Given the description of an element on the screen output the (x, y) to click on. 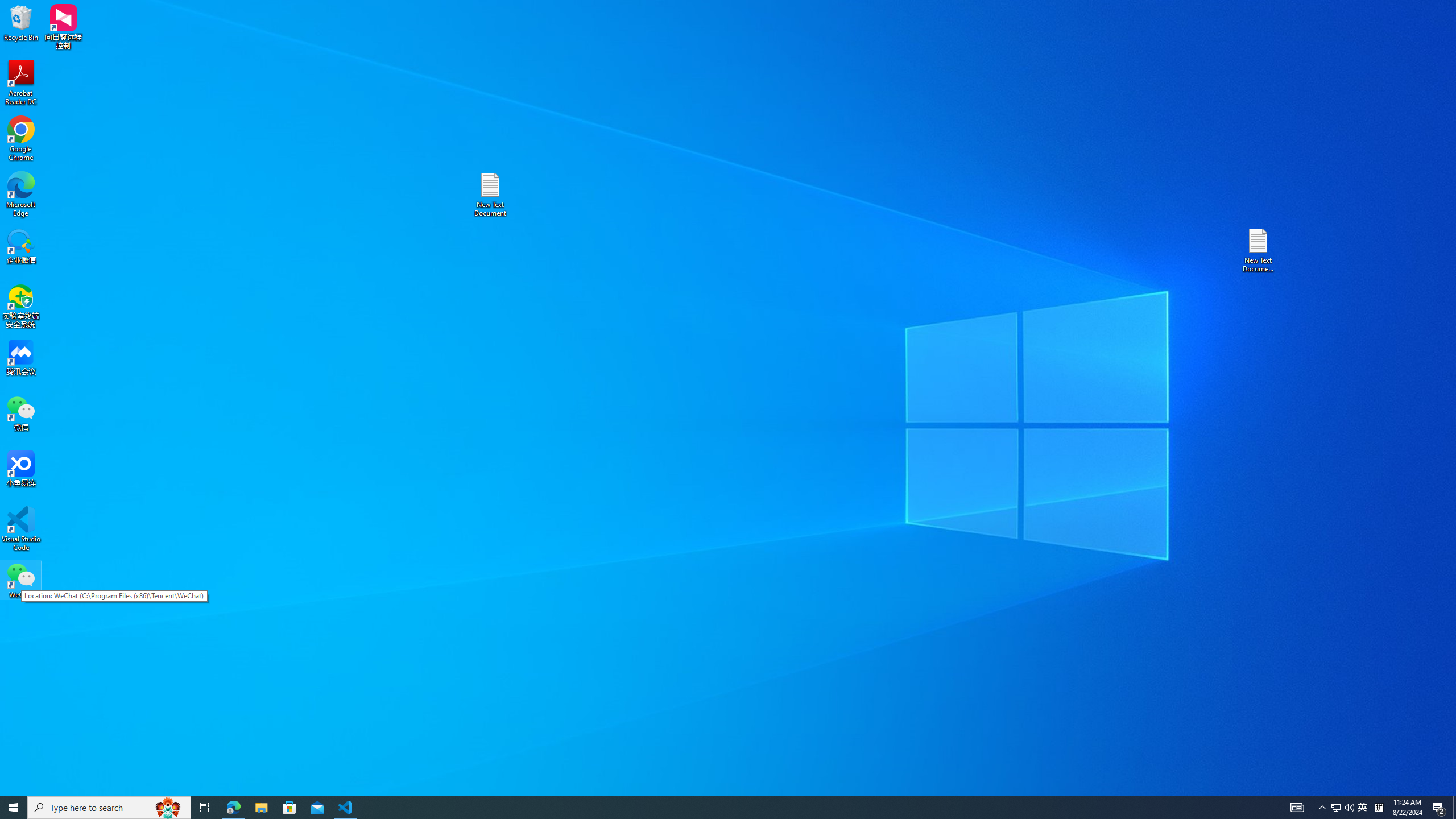
Google Chrome (21, 138)
Visual Studio Code - 1 running window (345, 807)
New Text Document (1335, 807)
Type here to search (489, 194)
Running applications (108, 807)
Acrobat Reader DC (707, 807)
WeChat (21, 82)
Start (21, 580)
New Text Document (2) (13, 807)
Task View (1258, 250)
Action Center, 2 new notifications (204, 807)
